Given the description of an element on the screen output the (x, y) to click on. 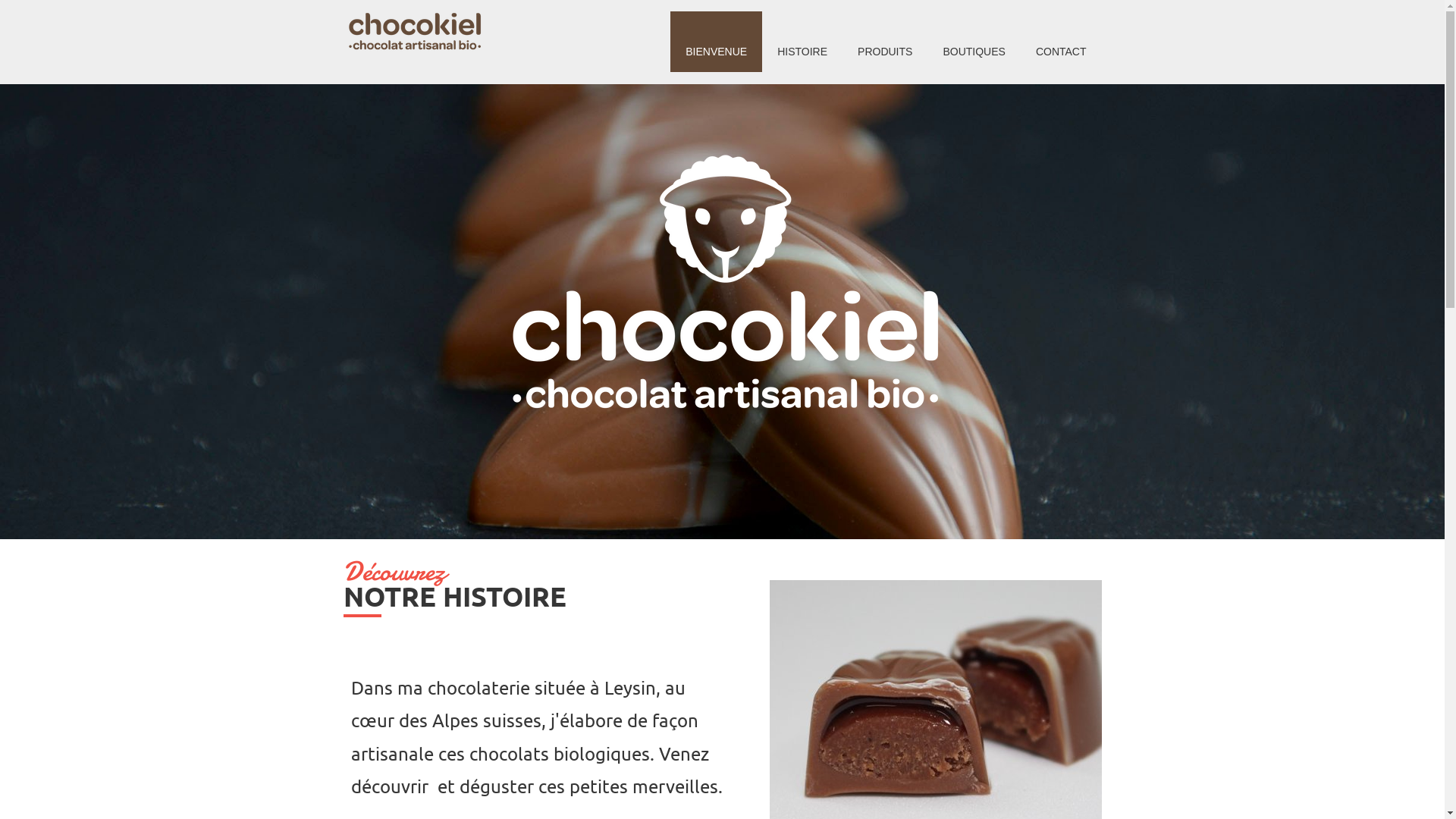
BOUTIQUES Element type: text (973, 41)
PRODUITS Element type: text (884, 41)
CONTACT Element type: text (1060, 41)
BIENVENUE Element type: text (716, 41)
HISTOIRE Element type: text (802, 41)
